Given the description of an element on the screen output the (x, y) to click on. 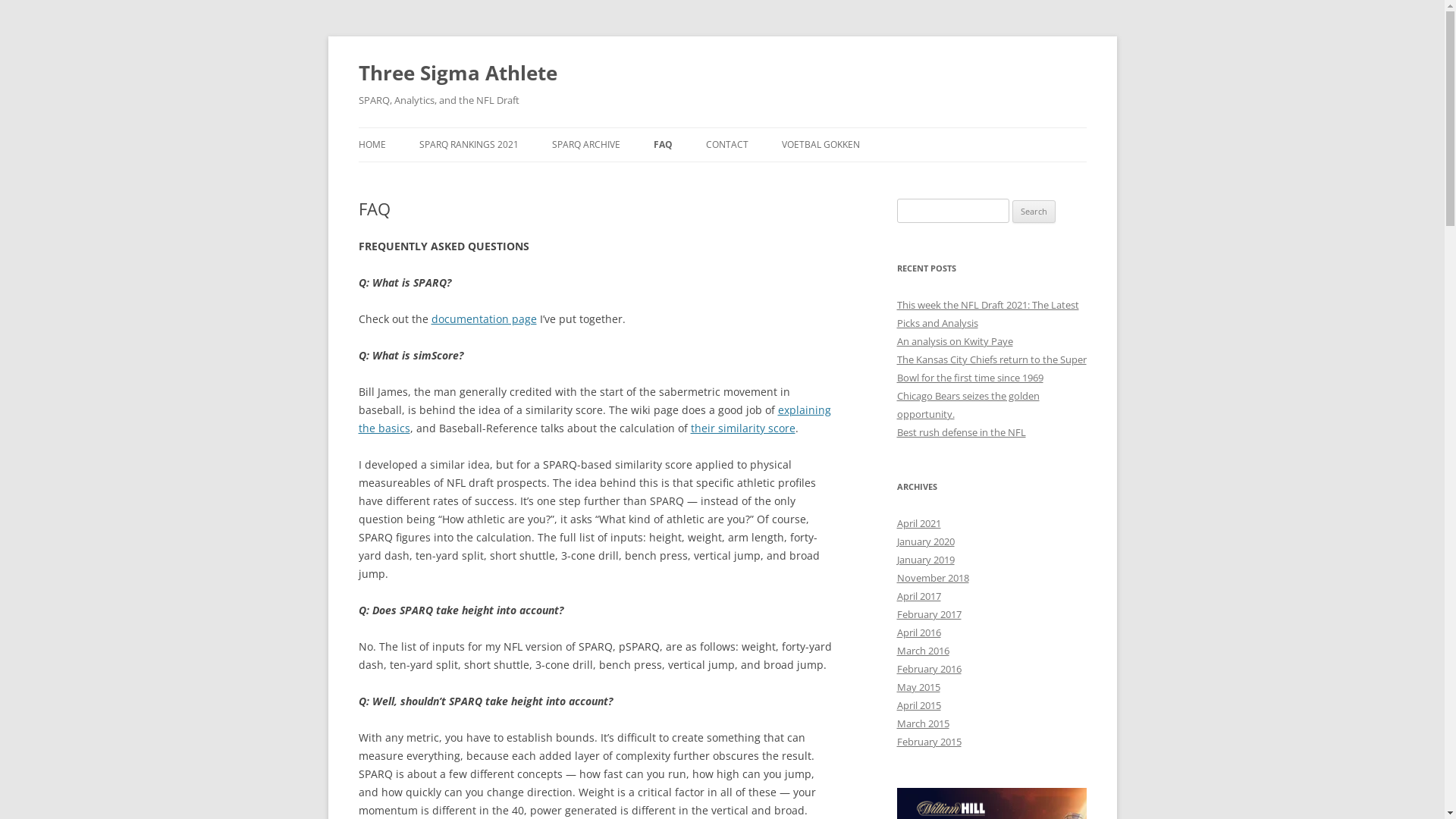
January 2019 Element type: text (924, 559)
April 2016 Element type: text (918, 632)
April 2021 Element type: text (918, 523)
March 2016 Element type: text (922, 650)
FAQ Element type: text (662, 144)
May 2015 Element type: text (917, 686)
April 2017 Element type: text (918, 595)
Chicago Bears seizes the golden opportunity. Element type: text (967, 404)
Best rush defense in the NFL Element type: text (960, 432)
Skip to content Element type: text (721, 127)
Search Element type: text (1033, 211)
VOETBAL GOKKEN Element type: text (820, 144)
SPARQ ARCHIVE Element type: text (586, 144)
documentation page Element type: text (483, 318)
February 2016 Element type: text (928, 668)
explaining the basics Element type: text (593, 418)
January 2020 Element type: text (924, 541)
QUARTERBACK Element type: text (494, 176)
February 2017 Element type: text (928, 614)
CONTACT Element type: text (726, 144)
February 2015 Element type: text (928, 741)
November 2018 Element type: text (932, 577)
An analysis on Kwity Paye Element type: text (954, 341)
their similarity score Element type: text (742, 427)
This week the NFL Draft 2021: The Latest Picks and Analysis Element type: text (987, 313)
March 2015 Element type: text (922, 723)
SPARQ RANKINGS 2021 Element type: text (467, 144)
HOME Element type: text (371, 144)
April 2015 Element type: text (918, 705)
SPARQ RANKINGS 2020 Element type: text (627, 176)
Three Sigma Athlete Element type: text (456, 72)
